Given the description of an element on the screen output the (x, y) to click on. 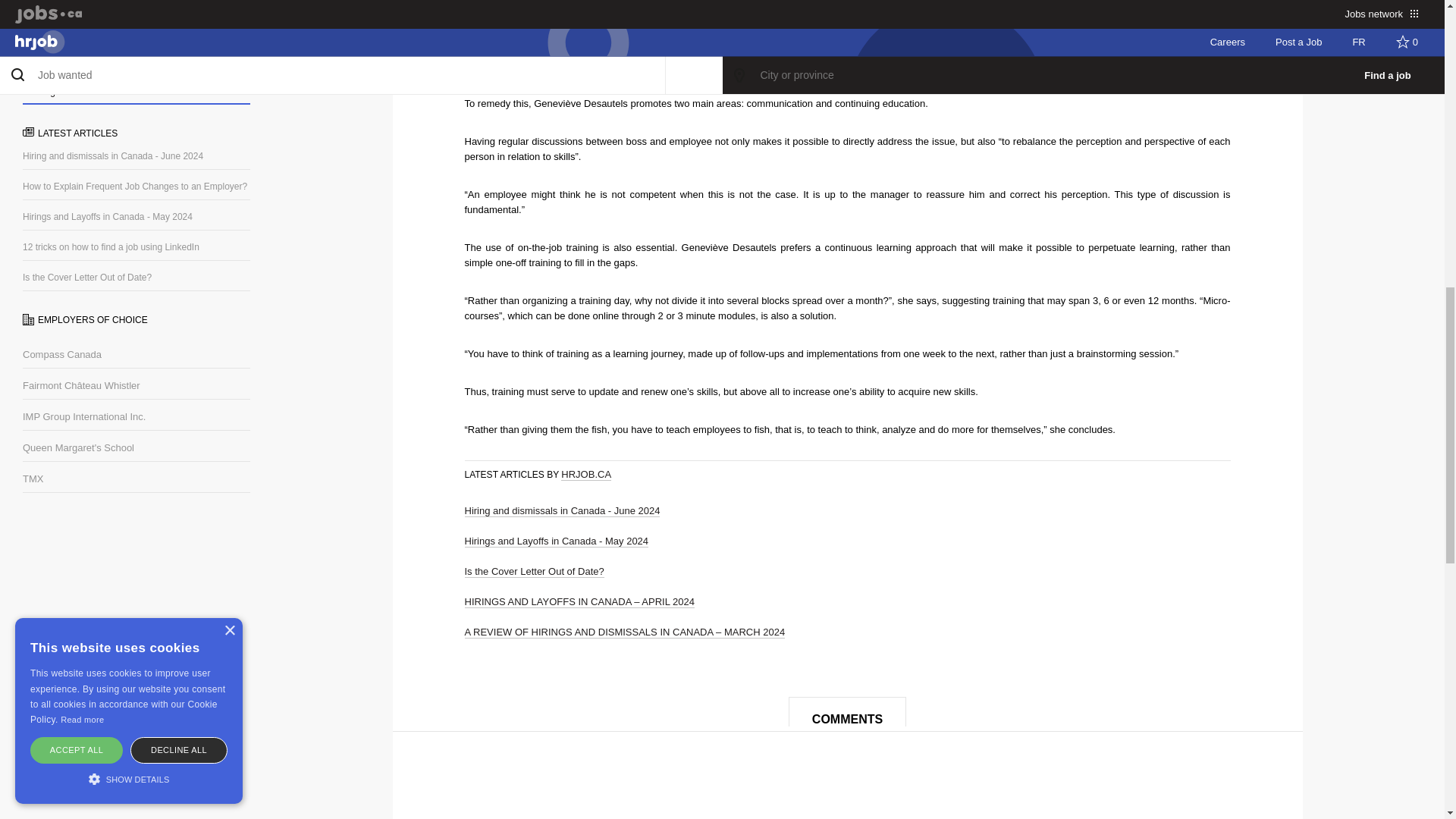
Hirings and Layoffs in Canada - May 2024 (555, 541)
Hiring and dismissals in Canada - June 2024 (561, 510)
Is the Cover Letter Out of Date? (534, 571)
Posts by HRJob.ca (585, 474)
HRJOB.CA (585, 474)
